Given the description of an element on the screen output the (x, y) to click on. 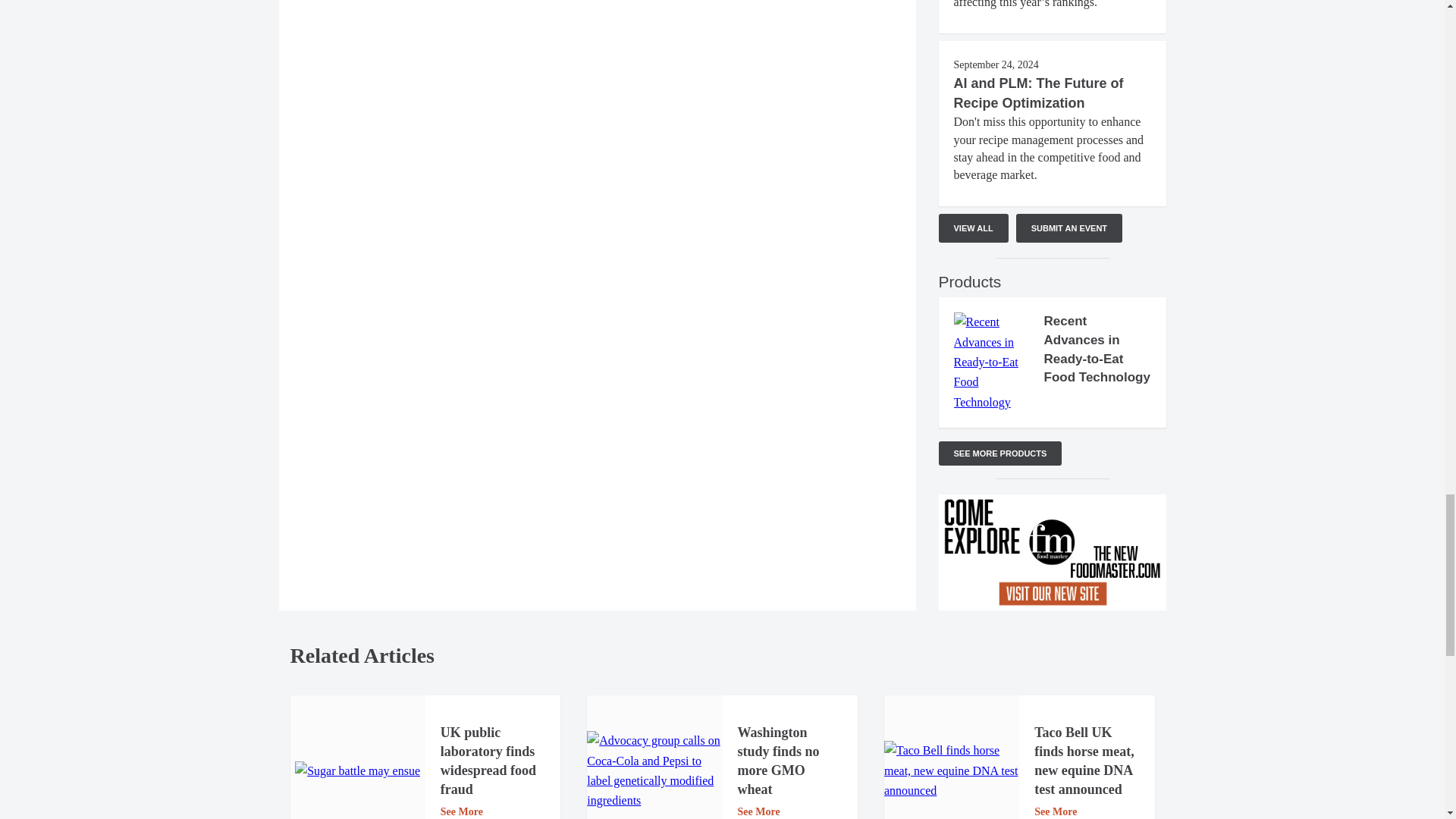
groundbeef.jpg (951, 770)
breakingnewsbigouterglow.jpg (357, 771)
AI and PLM: The Future of Recipe Optimization (1038, 93)
